Given the description of an element on the screen output the (x, y) to click on. 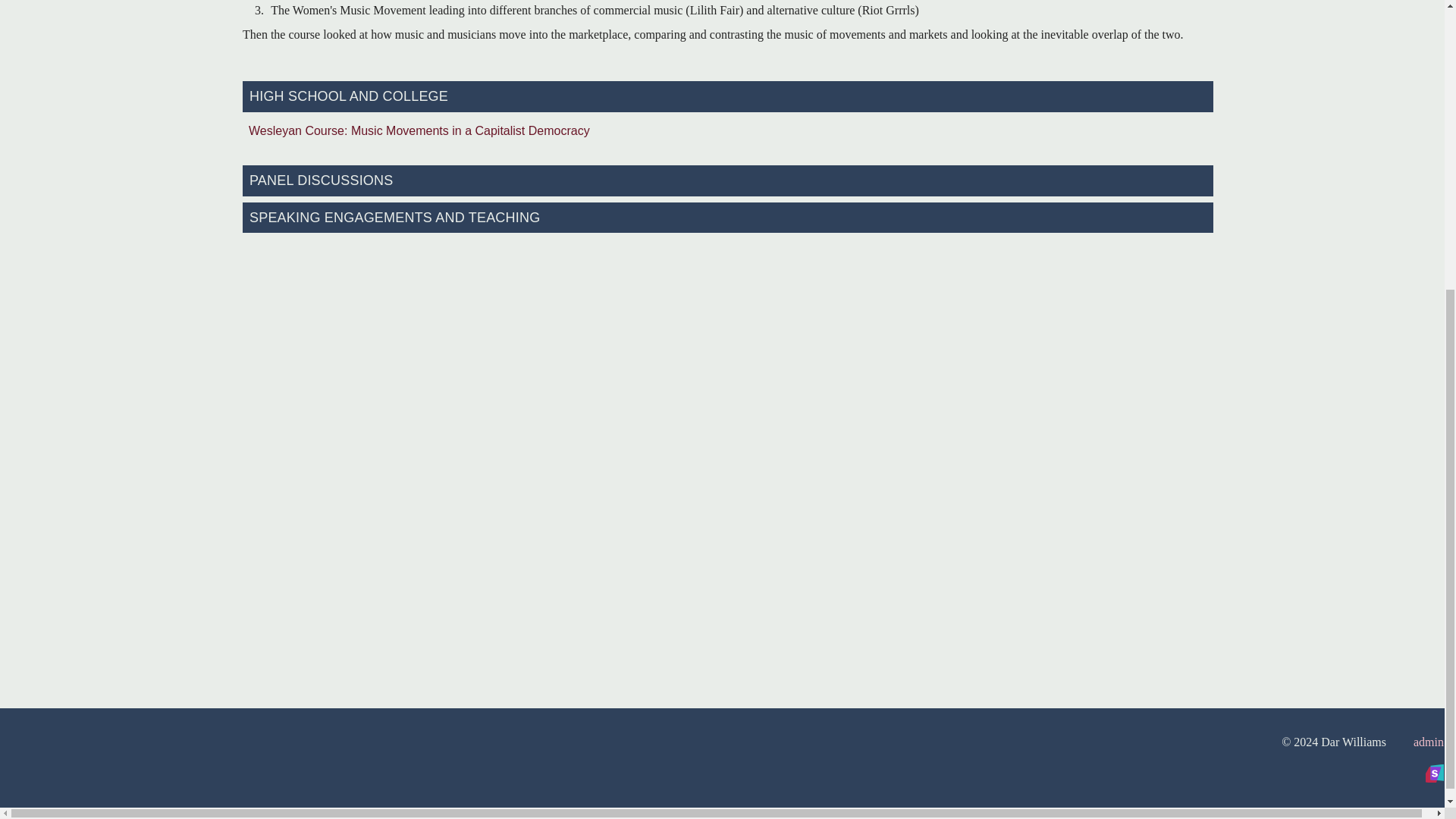
SPEAKING ENGAGEMENTS AND TEACHING (727, 217)
HIGH SCHOOL AND COLLEGE (727, 96)
PANEL DISCUSSIONS (727, 180)
admin (1428, 741)
Wesleyan Course: Music Movements in a Capitalist Democracy (727, 130)
